Given the description of an element on the screen output the (x, y) to click on. 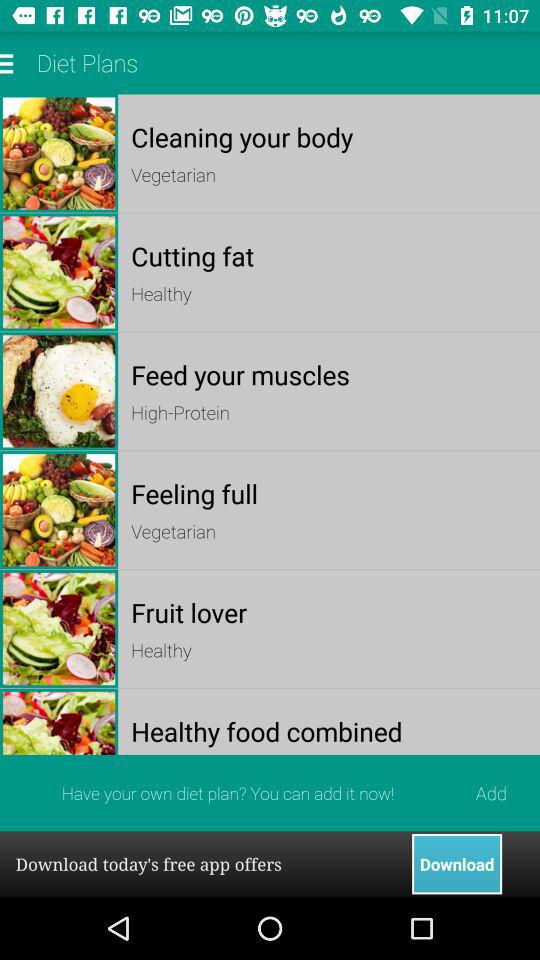
open the app below vegetarian item (328, 612)
